Given the description of an element on the screen output the (x, y) to click on. 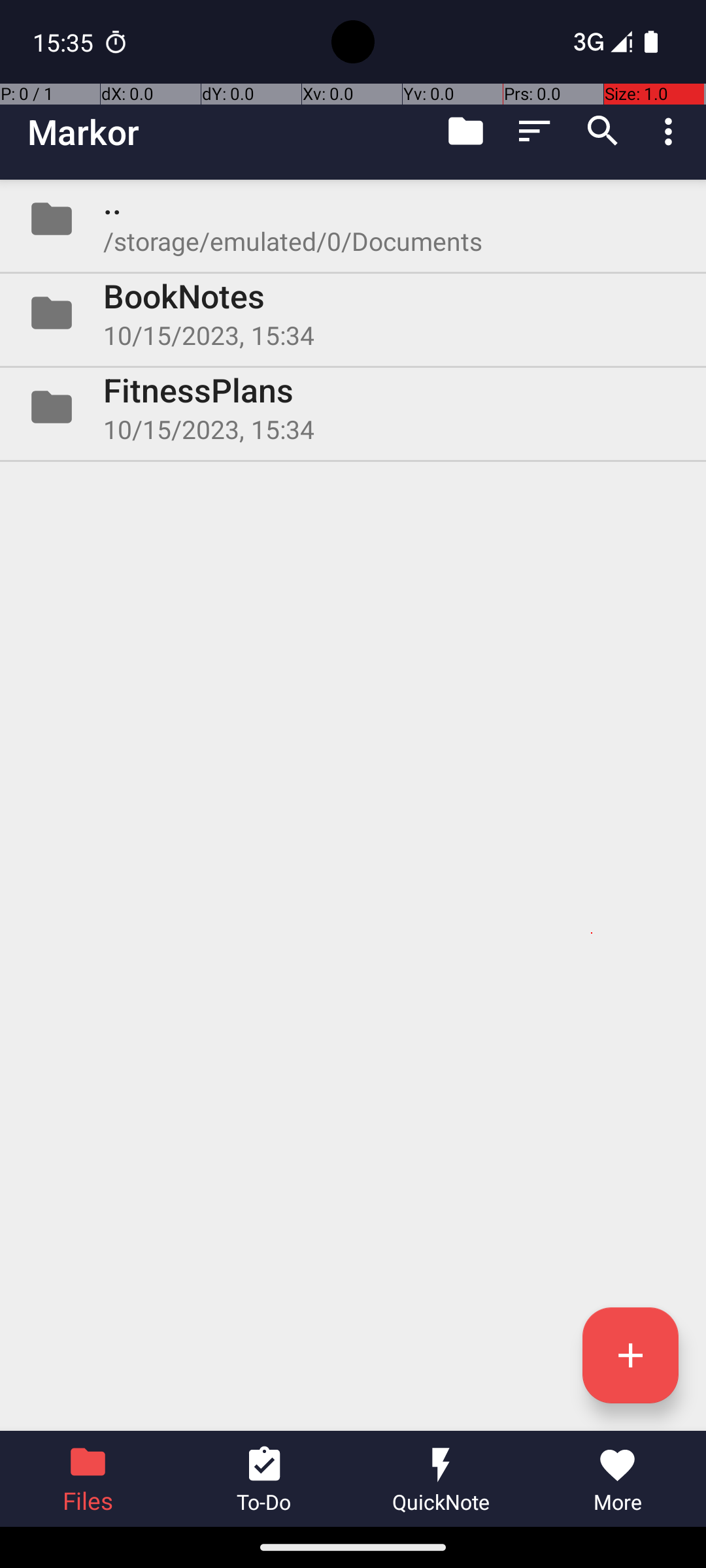
Folder BookNotes  Element type: android.widget.LinearLayout (353, 312)
Folder FitnessPlans  Element type: android.widget.LinearLayout (353, 406)
